Given the description of an element on the screen output the (x, y) to click on. 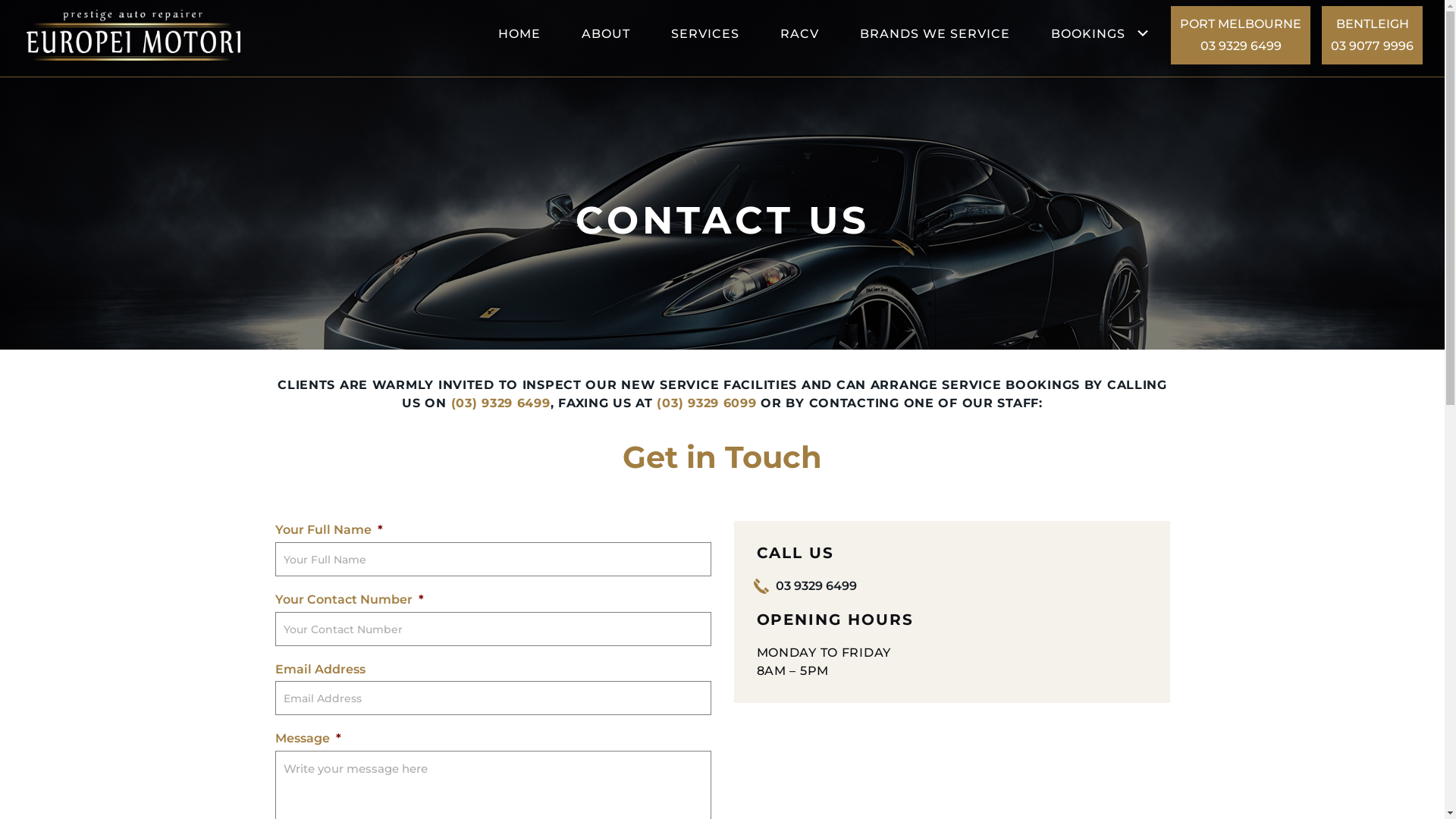
RACV Element type: text (799, 34)
03 9329 6499 Element type: text (815, 586)
EUROPEAN CAR MECHANIC PORT MELBOURNE Element type: text (165, 34)
(03) 9329 6099 Element type: text (706, 402)
ABOUT Element type: text (605, 34)
SERVICES Element type: text (705, 34)
(03) 9329 6499 Element type: text (500, 402)
Skip to main content Element type: text (0, 0)
HOME Element type: text (519, 34)
03 9329 6499 Element type: text (1240, 44)
BRANDS WE SERVICE Element type: text (934, 34)
BOOKINGS Element type: text (1088, 34)
Submenu Element type: text (1142, 32)
03 9077 9996 Element type: text (1371, 44)
